Given the description of an element on the screen output the (x, y) to click on. 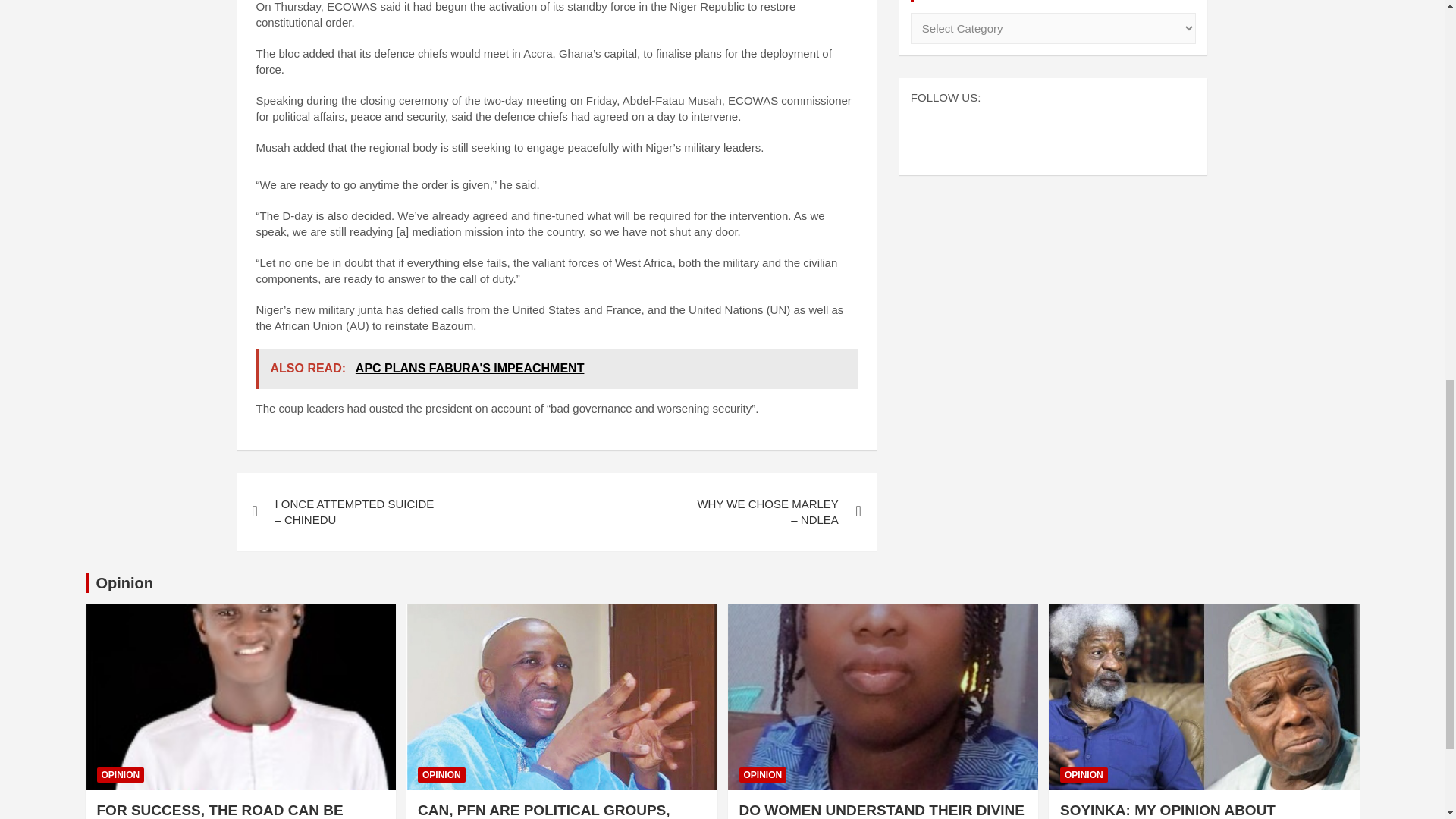
Facebook (1016, 134)
LinkedIn (1090, 134)
Twitter (1054, 134)
ALSO READ:   APC PLANS FABURA'S IMPEACHMENT (556, 368)
